Given the description of an element on the screen output the (x, y) to click on. 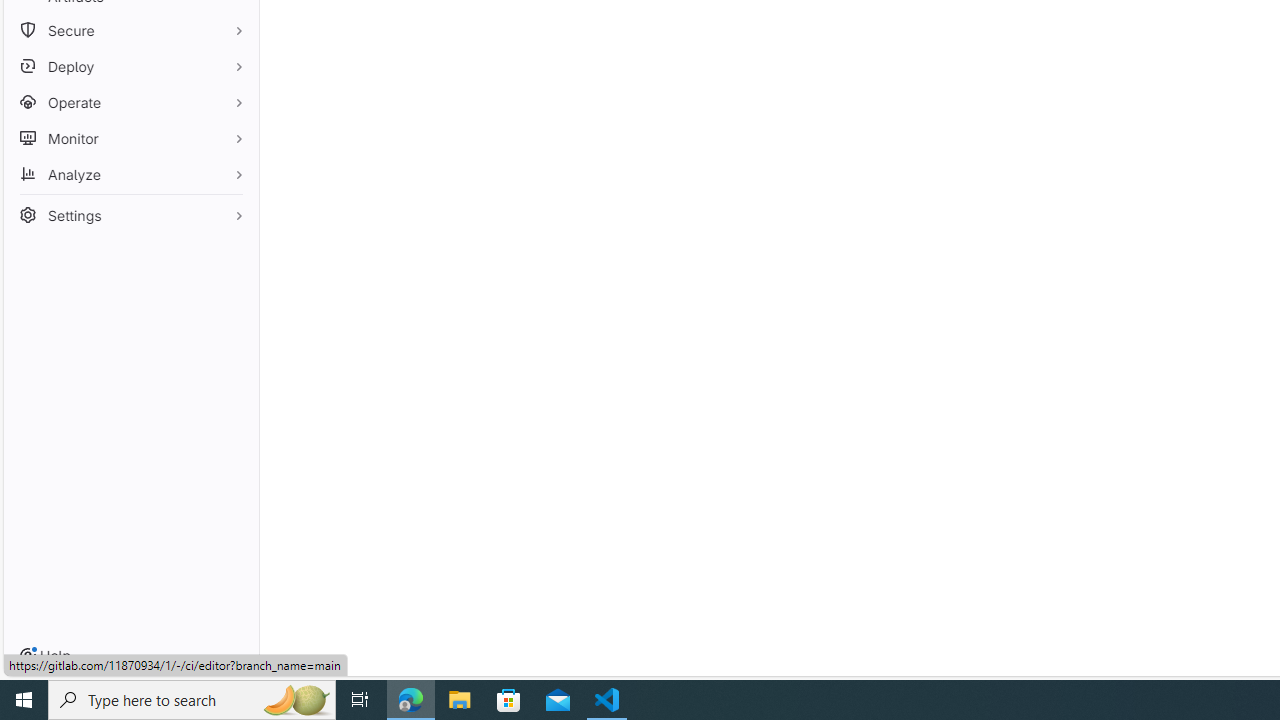
Secure (130, 29)
Analyze (130, 173)
Help (45, 655)
Operate (130, 101)
Monitor (130, 137)
Analyze (130, 173)
Deploy (130, 65)
Deploy (130, 65)
Secure (130, 29)
Operate (130, 101)
Monitor (130, 137)
